Given the description of an element on the screen output the (x, y) to click on. 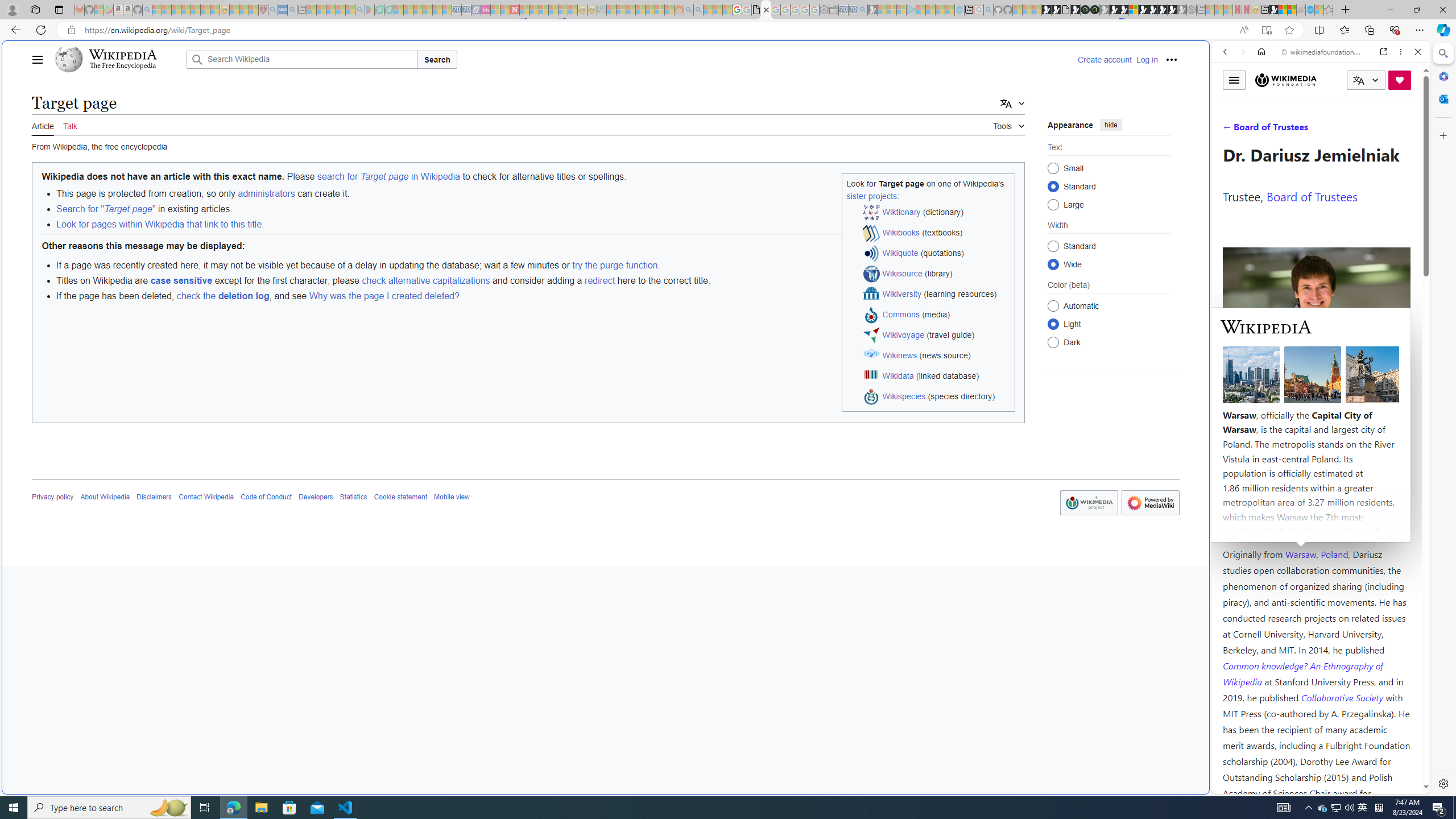
Privacy policy (53, 496)
Settings - Sleeping (823, 9)
Talk (69, 124)
MSN (1118, 536)
Tools (1008, 124)
hide (1110, 124)
Log in (1146, 58)
Look for pages within Wikipedia that link to this title. (534, 224)
Wiktionary (1315, 380)
Wikiquote (900, 252)
